Given the description of an element on the screen output the (x, y) to click on. 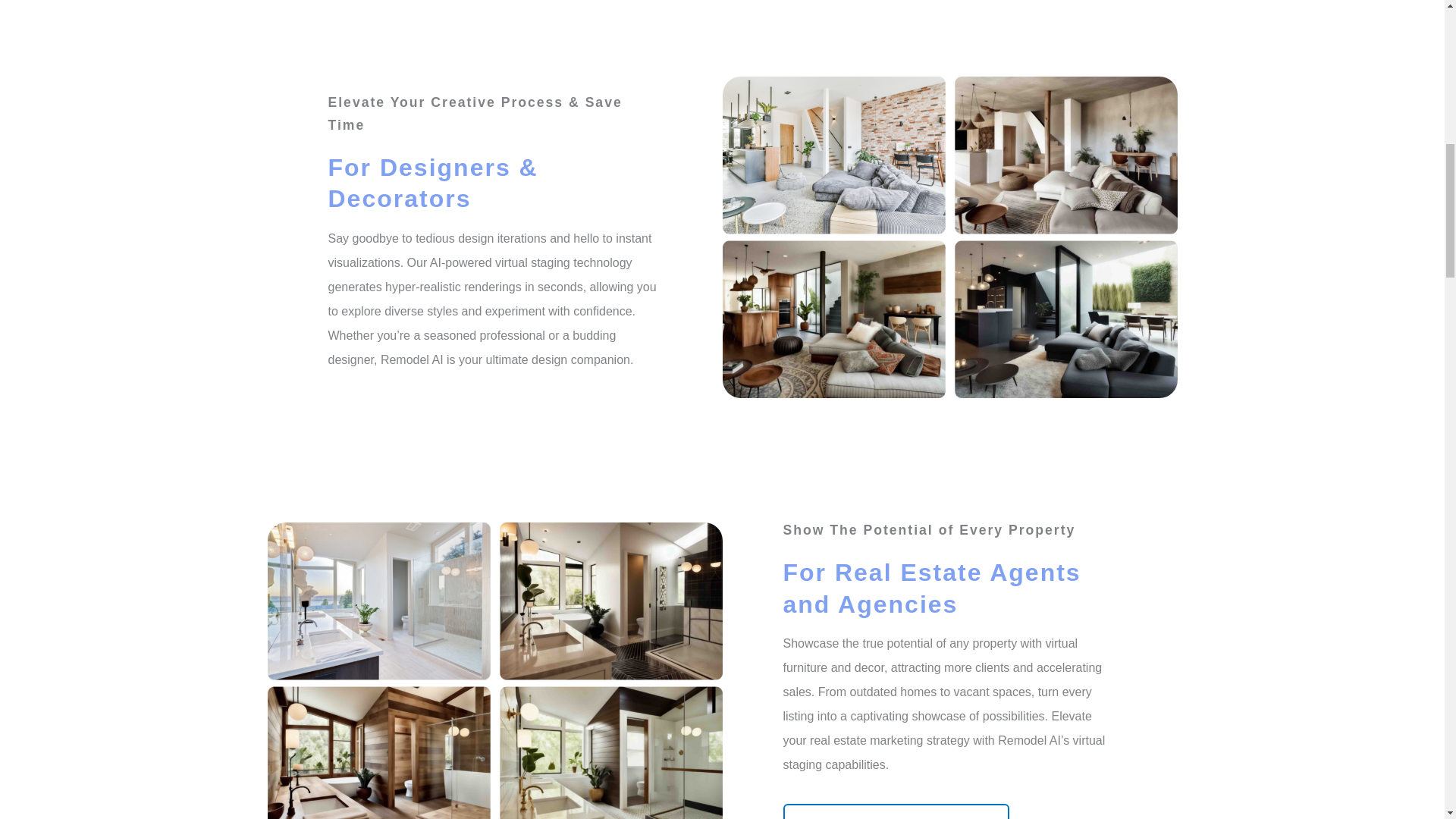
Benefits For Real Estate (896, 811)
